Given the description of an element on the screen output the (x, y) to click on. 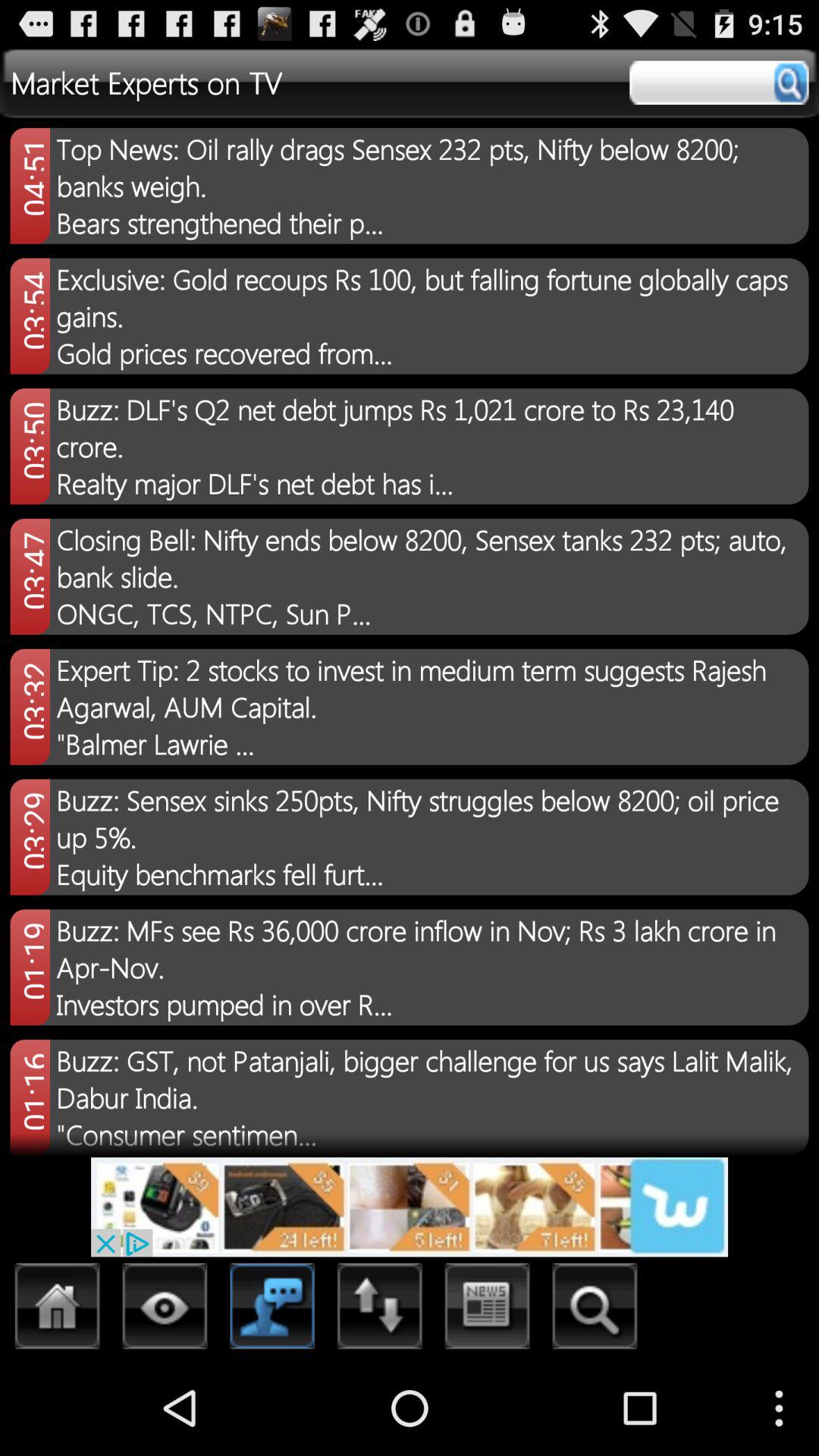
go to search (164, 1310)
